Given the description of an element on the screen output the (x, y) to click on. 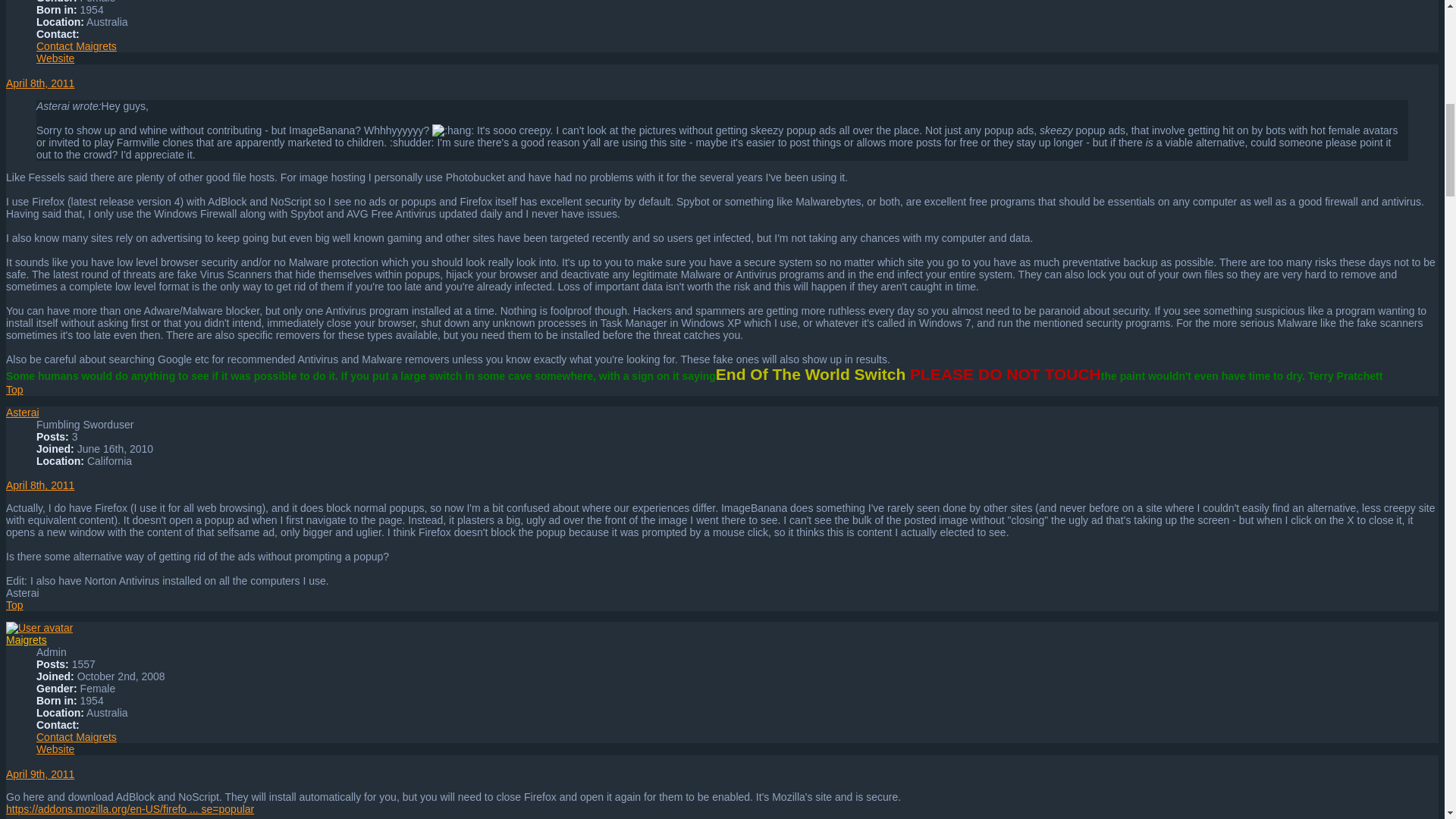
Top (14, 389)
Top (14, 604)
April 8th, 2011 (39, 82)
Website (55, 748)
Top (14, 389)
Contact Maigrets (76, 46)
Contact Maigrets (76, 736)
Contact Maigrets (76, 46)
Post (39, 82)
Top (14, 604)
Hang (453, 130)
Website (55, 58)
Maigrets (25, 639)
Contact Maigrets (76, 736)
Asterai (22, 412)
